Given the description of an element on the screen output the (x, y) to click on. 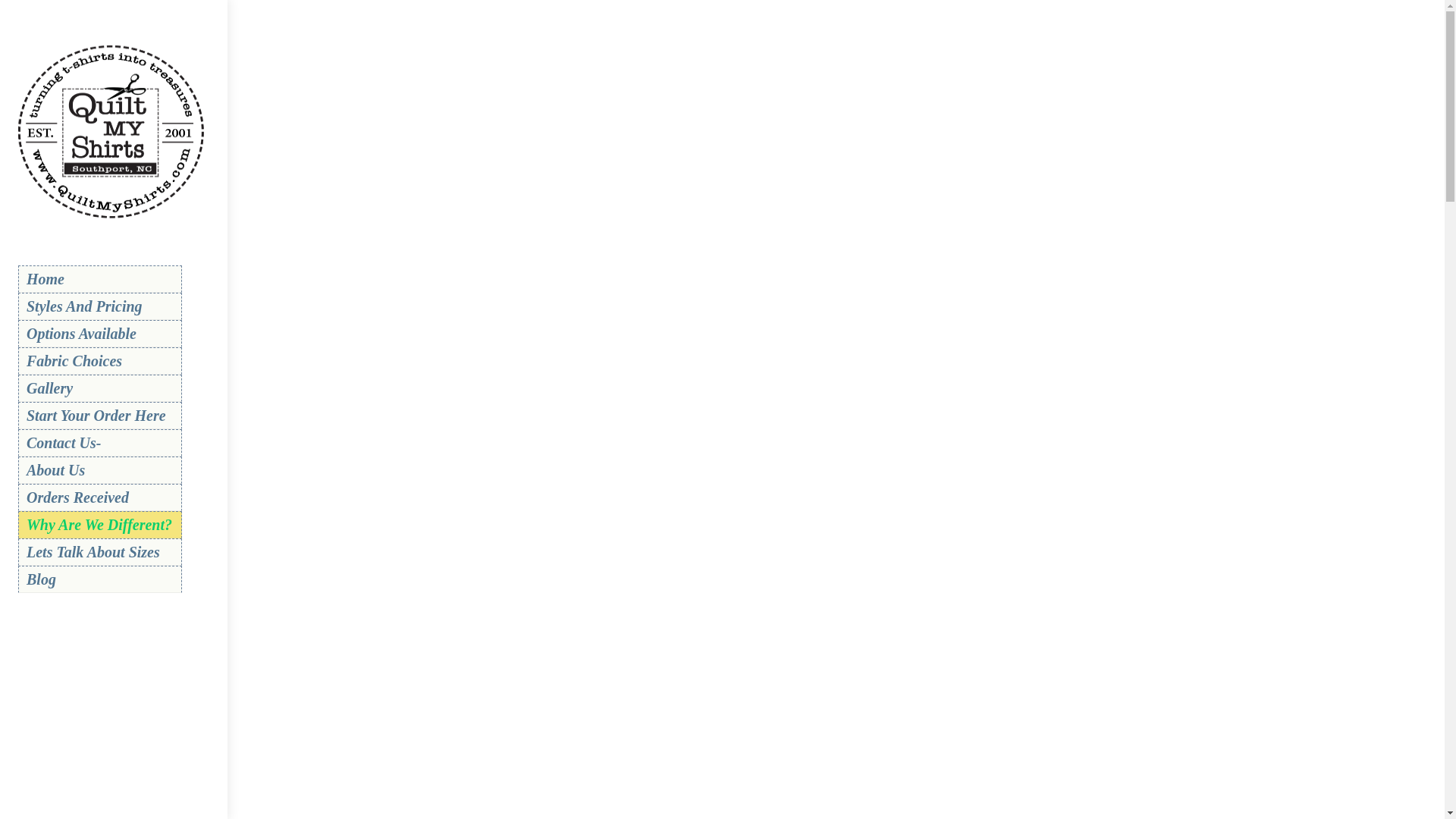
Gallery (99, 388)
Options Available (99, 333)
Home (99, 278)
Blog (99, 578)
Quilt My Shirts (112, 217)
FB PIXEL (116, 321)
Lets Talk About Sizes (99, 551)
Orders Received (99, 497)
Contact Us- (99, 442)
About Us (99, 470)
